Given the description of an element on the screen output the (x, y) to click on. 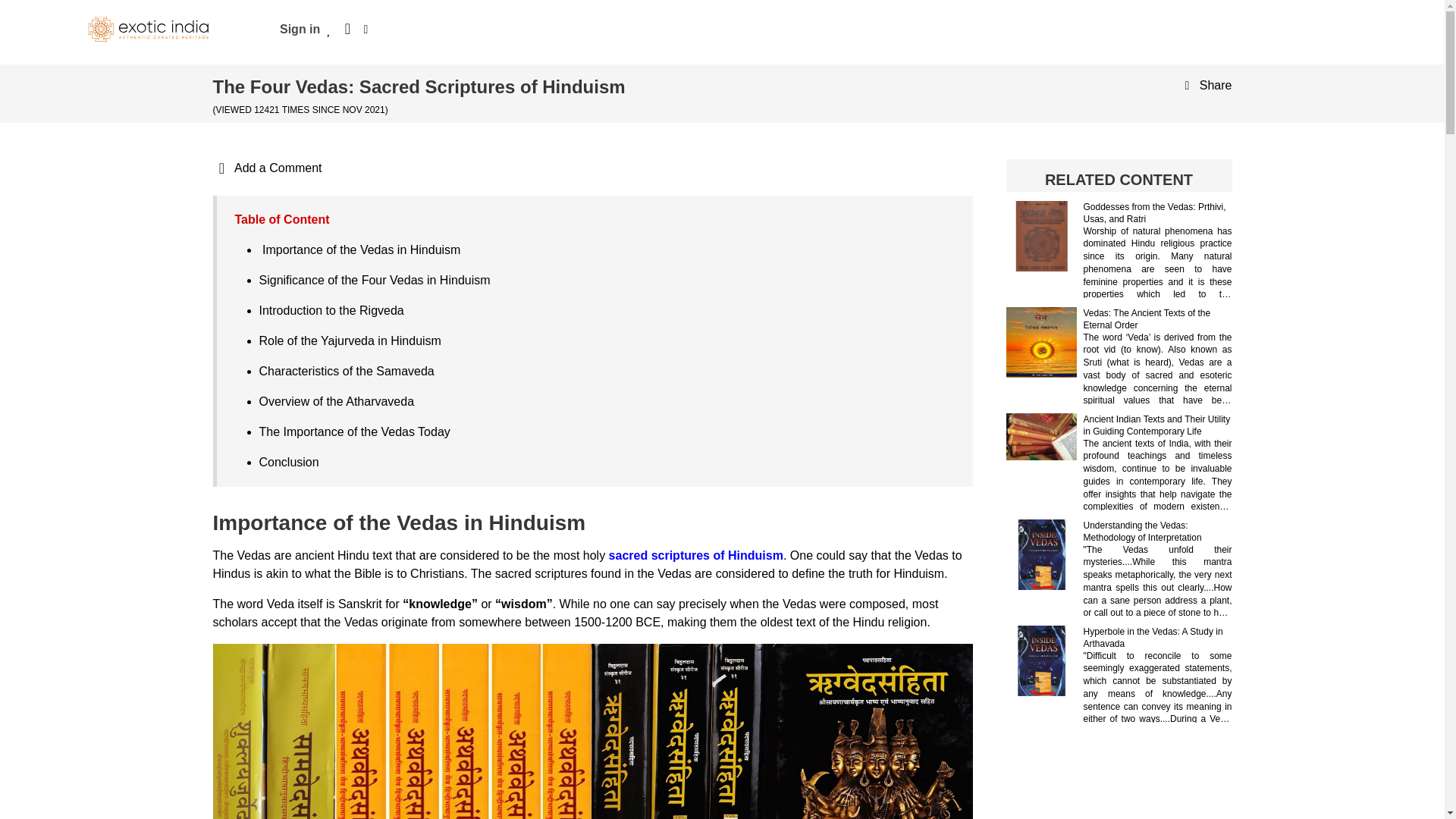
Goddesses from the Vedas: Prthivi, Usas, and Ratri (1154, 213)
sacred scriptures of Hinduism (695, 554)
Sign in (299, 29)
Add a Comment (266, 167)
Wishlist (328, 29)
Goddesses from the Vedas: Prthivi, Usas, and Ratri (1154, 213)
Share (1204, 84)
Share (1204, 84)
Add a Comment (266, 167)
